Given the description of an element on the screen output the (x, y) to click on. 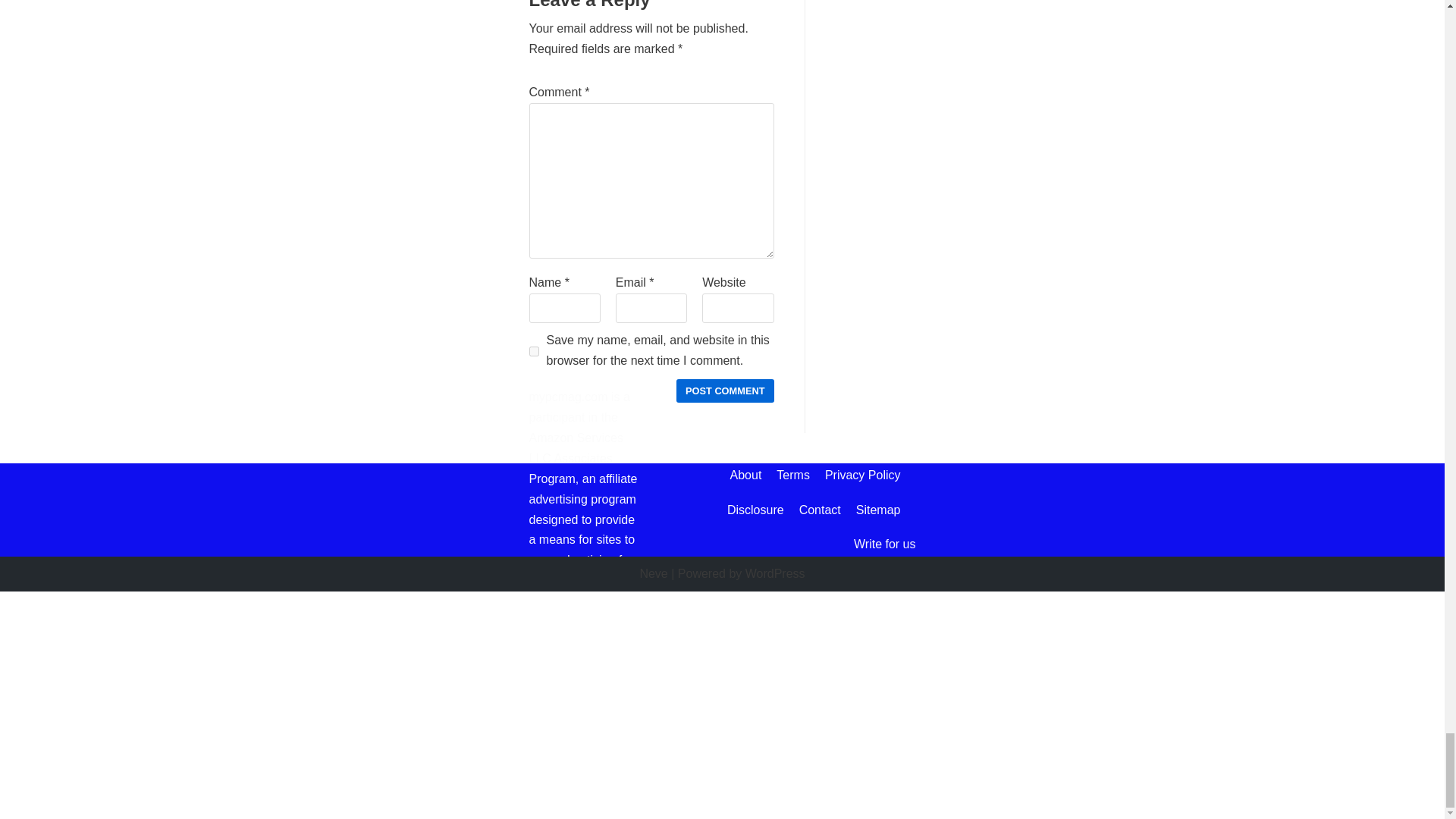
Post Comment (725, 390)
yes (533, 351)
